Given the description of an element on the screen output the (x, y) to click on. 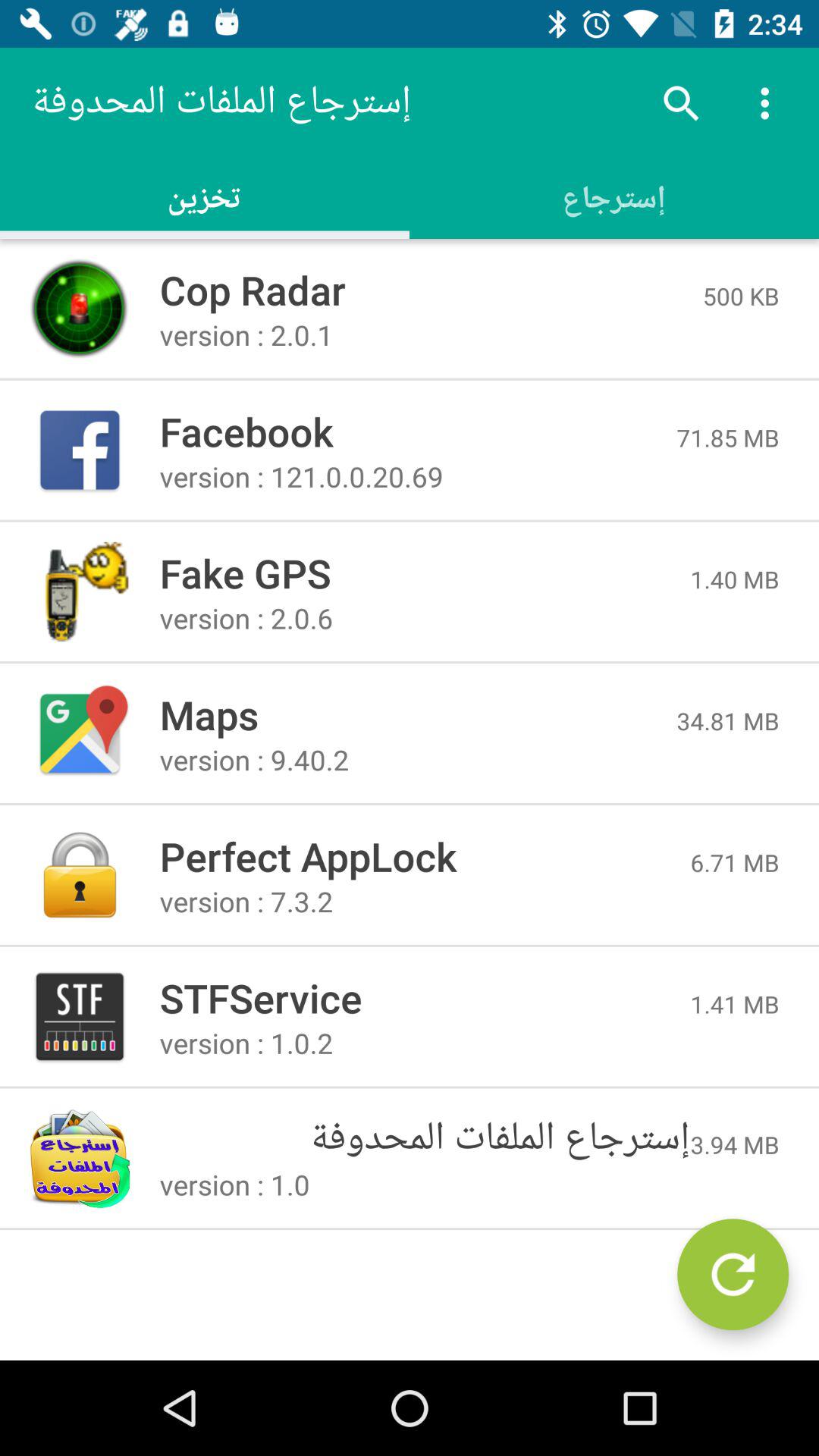
turn on icon to the left of 6.71 mb icon (424, 855)
